Given the description of an element on the screen output the (x, y) to click on. 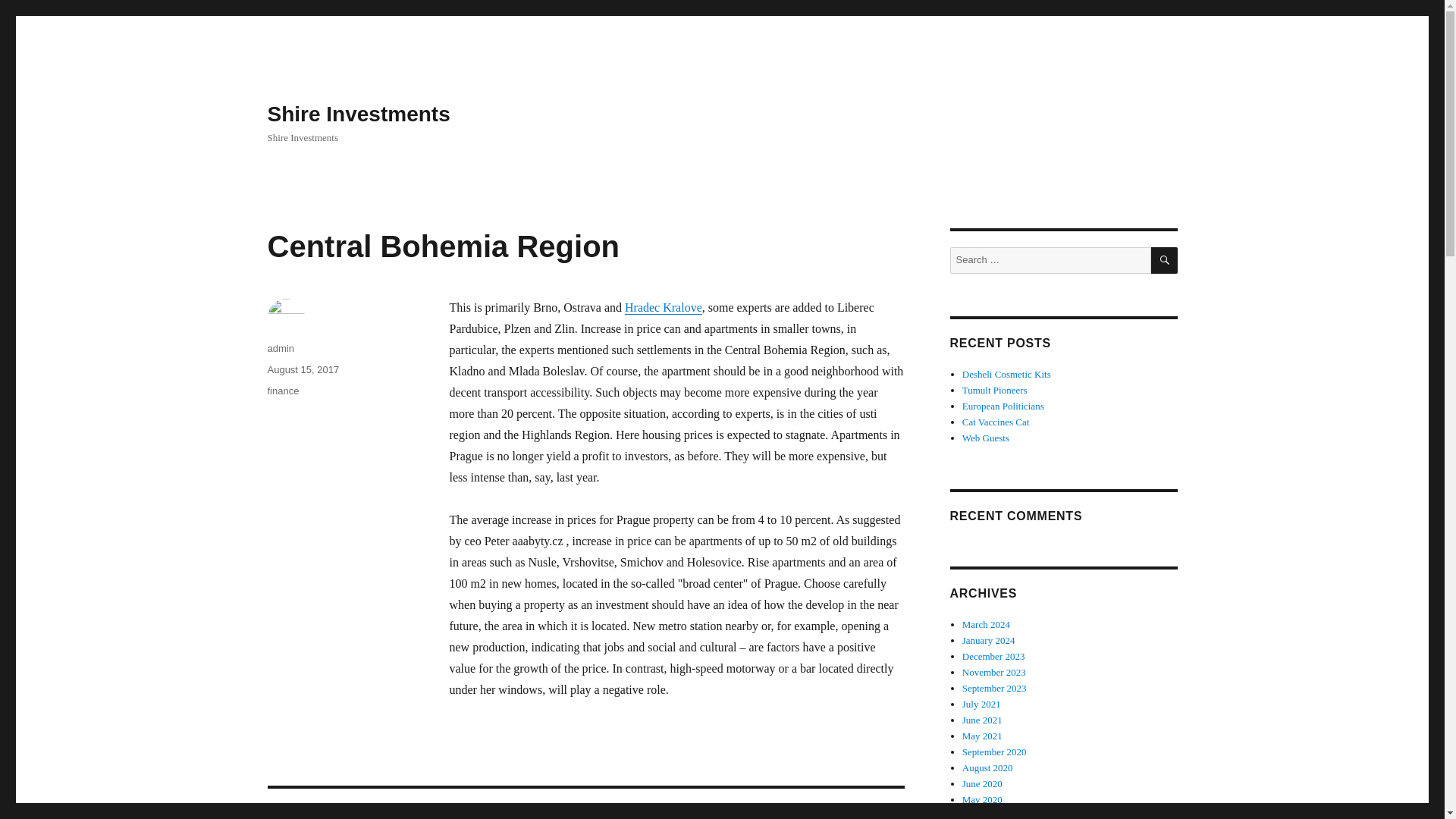
SEARCH (1164, 260)
April 2020 (984, 814)
January 2024 (988, 640)
Web Guests (985, 437)
December 2023 (993, 655)
Hradec Kralove (662, 307)
November 2023 (585, 803)
May 2021 (994, 672)
Cat Vaccines Cat (982, 736)
